Given the description of an element on the screen output the (x, y) to click on. 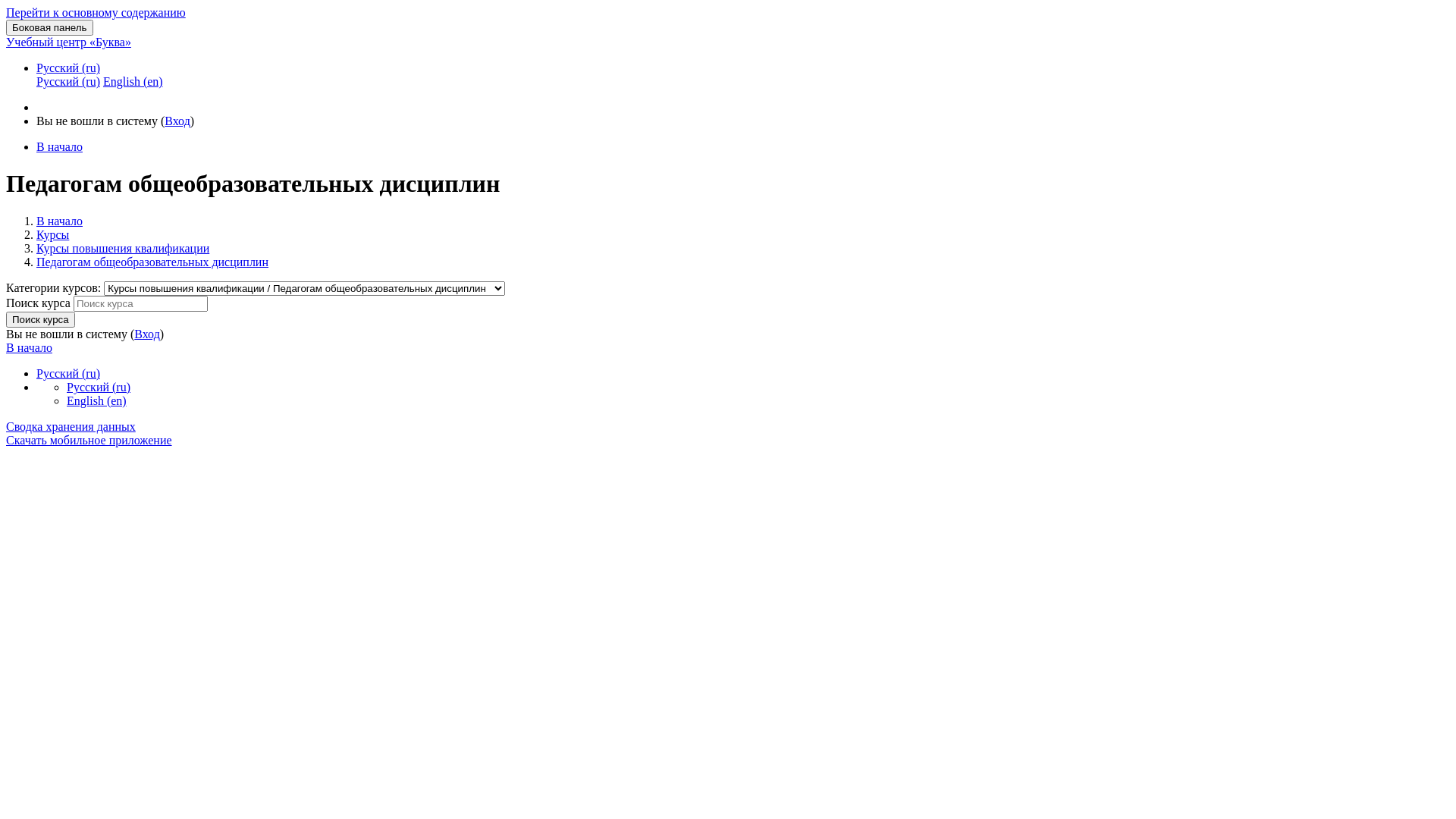
English (en) Element type: text (133, 81)
English (en) Element type: text (96, 400)
